Given the description of an element on the screen output the (x, y) to click on. 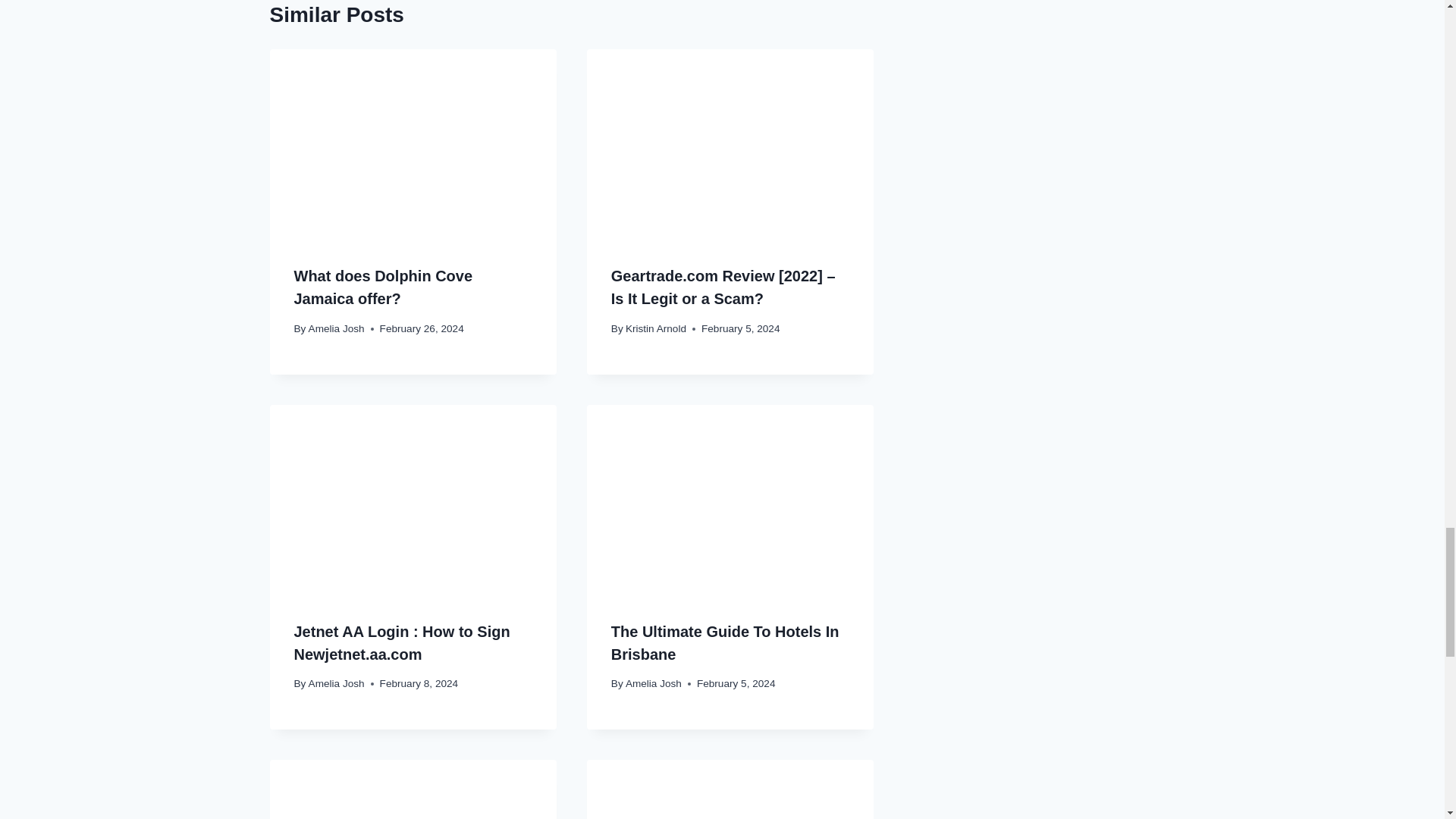
What does Dolphin Cove Jamaica offer? (383, 287)
Amelia Josh (336, 328)
